Given the description of an element on the screen output the (x, y) to click on. 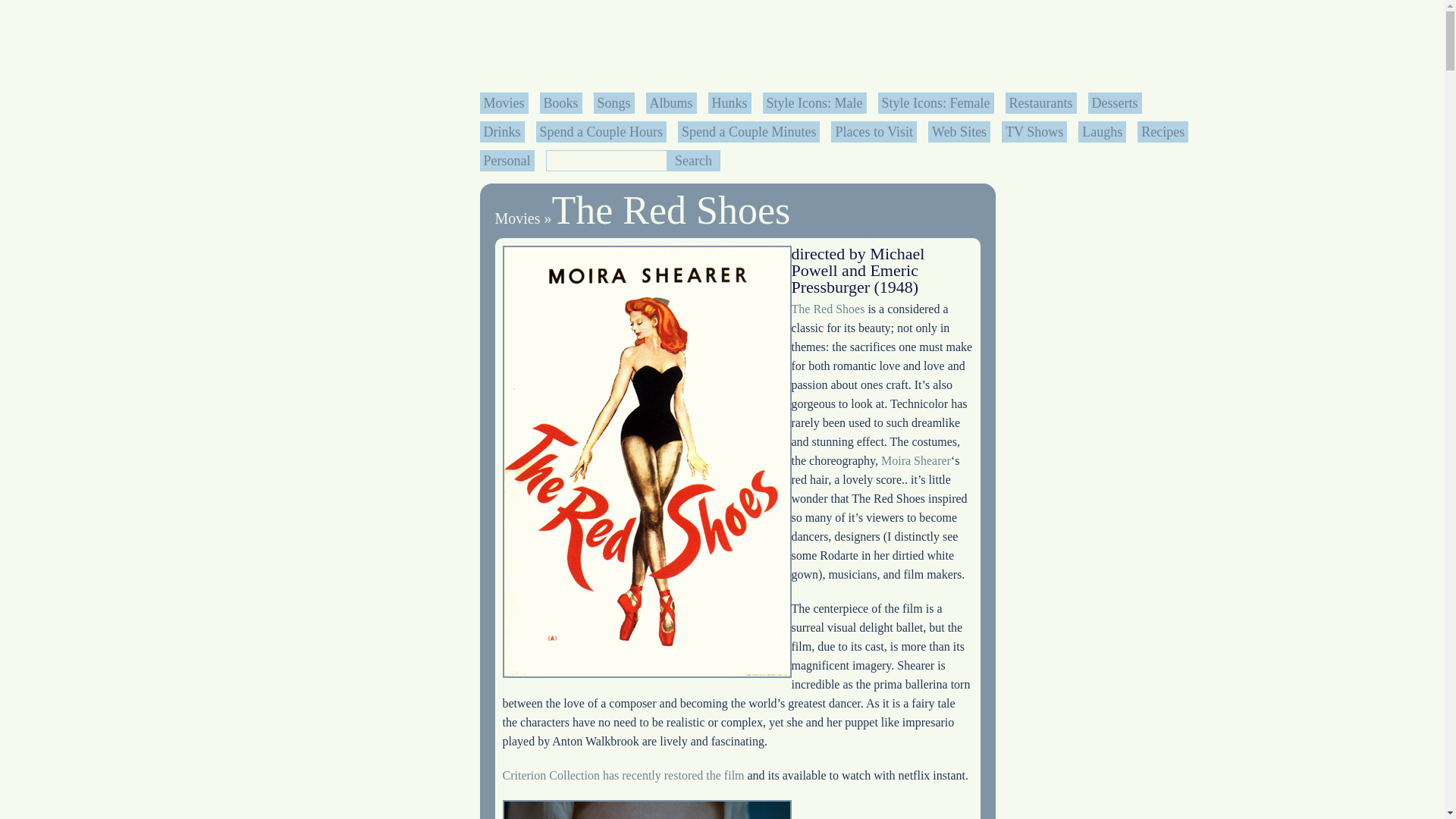
Drinks (502, 131)
Moira Shearer (915, 460)
The Red Shoes (670, 210)
Albums (671, 102)
Places to Visit (873, 131)
Criterion Collection has recently restored the film (623, 775)
Spend a Couple Minutes (748, 131)
Books (560, 102)
Personal (507, 160)
Desserts (1115, 102)
Recipes (1163, 131)
Search (693, 160)
Brix Picks - Home (843, 44)
Style Icons: Female (936, 102)
redshoes12 (646, 809)
